Given the description of an element on the screen output the (x, y) to click on. 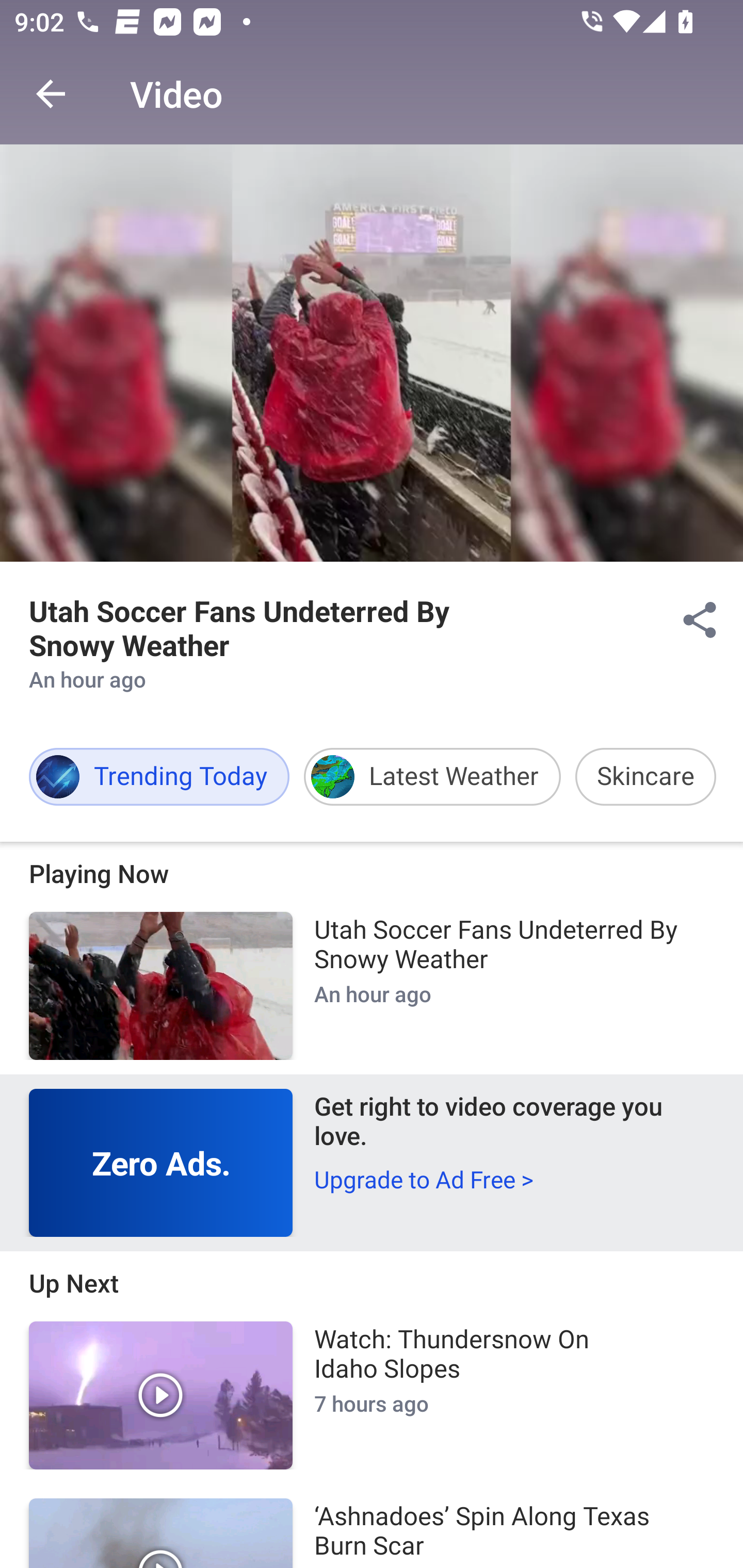
Navigate up (50, 93)
Trending Today (158, 776)
Latest Weather (431, 776)
Skincare (645, 776)
Play (160, 1395)
